Given the description of an element on the screen output the (x, y) to click on. 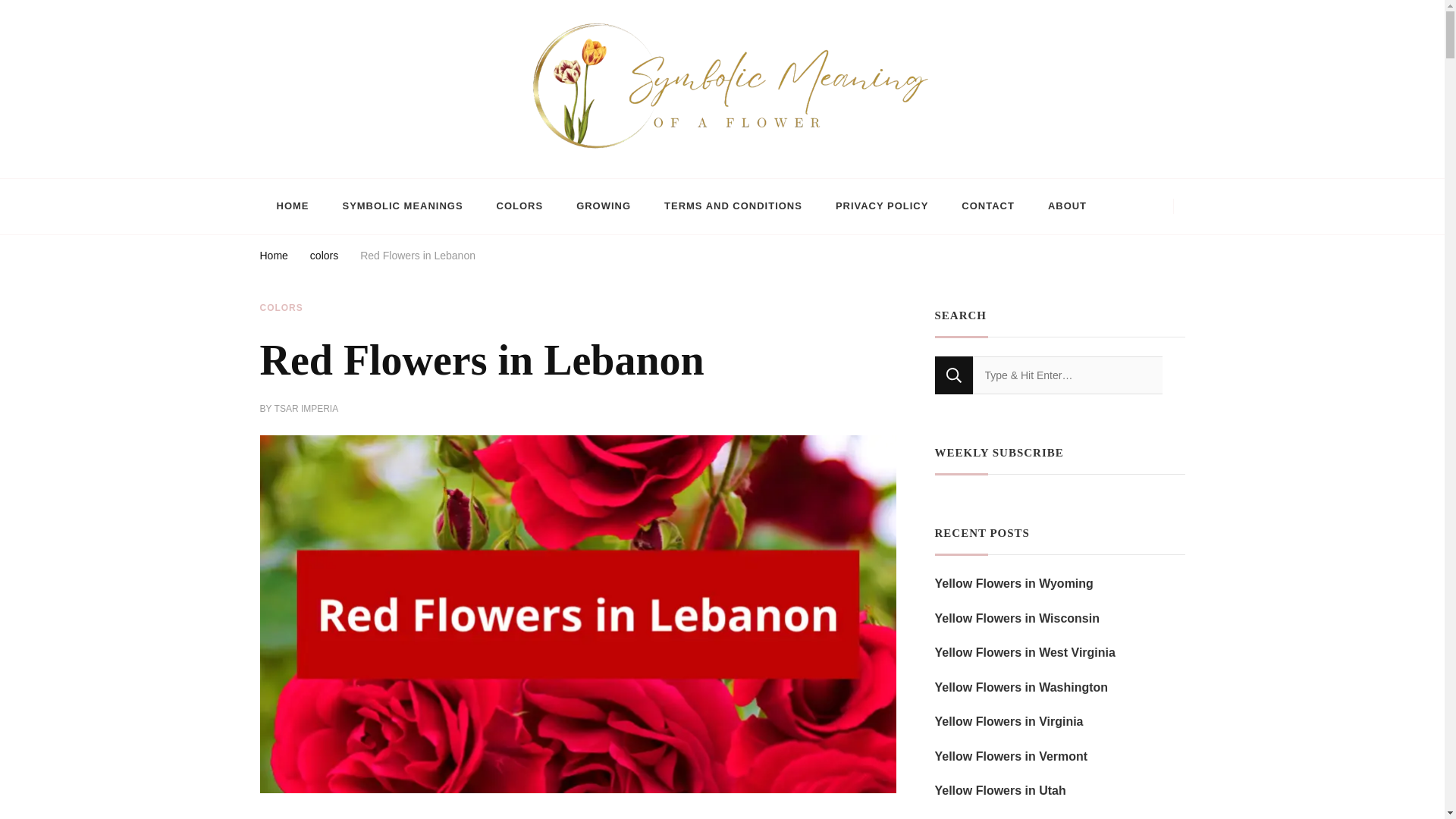
ABOUT (1066, 206)
SYMBOLIC MEANINGS (401, 206)
PRIVACY POLICY (881, 206)
GROWING (603, 206)
TSAR IMPERIA (307, 409)
CONTACT (987, 206)
COLORS (280, 308)
TERMS AND CONDITIONS (732, 206)
Red Flowers in Lebanon (417, 257)
COLORS (520, 206)
